Given the description of an element on the screen output the (x, y) to click on. 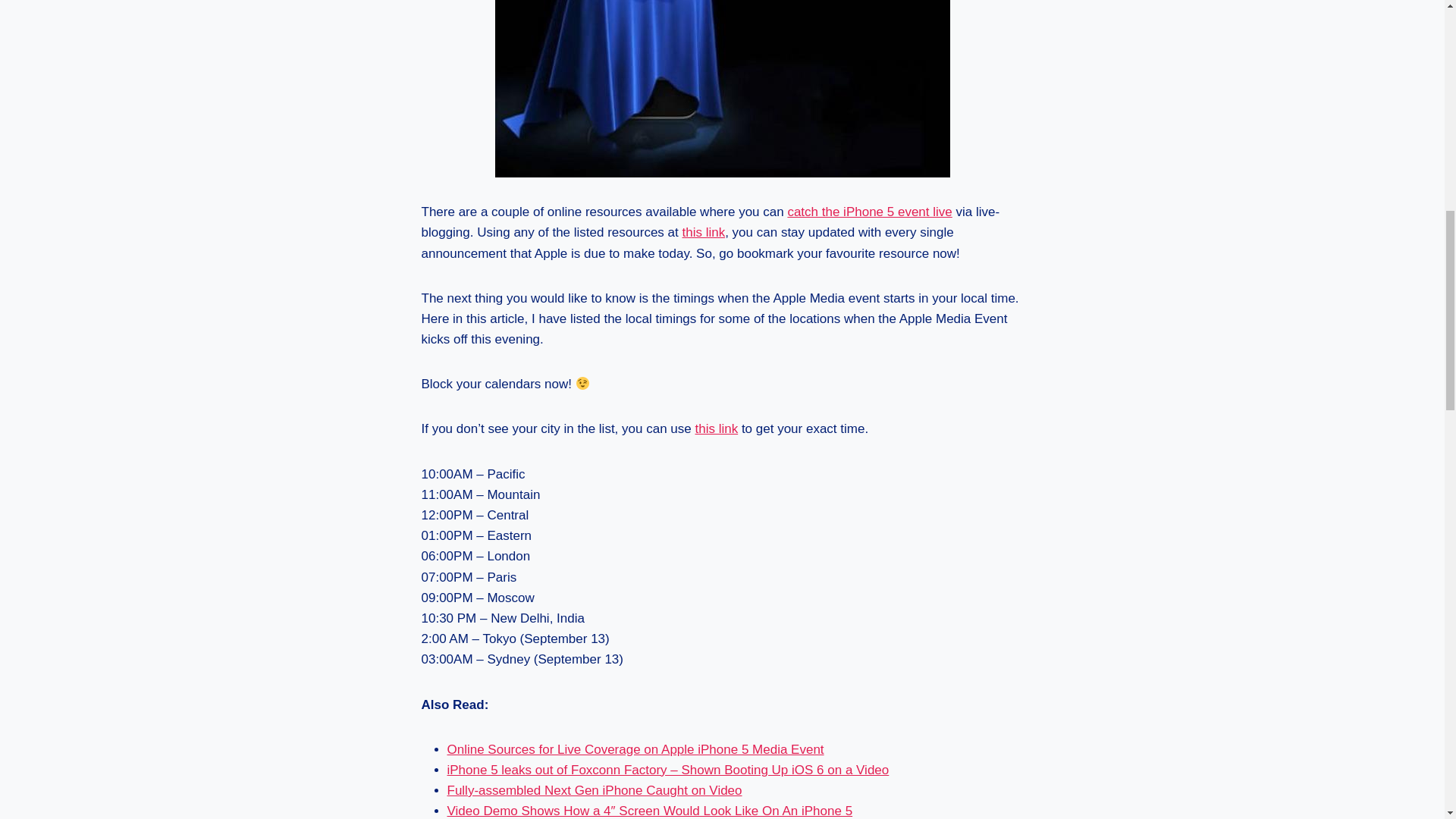
catch the iPhone 5 event live (869, 211)
iPhone 5 Launch 12 September Curtain Raiser (722, 88)
